Given the description of an element on the screen output the (x, y) to click on. 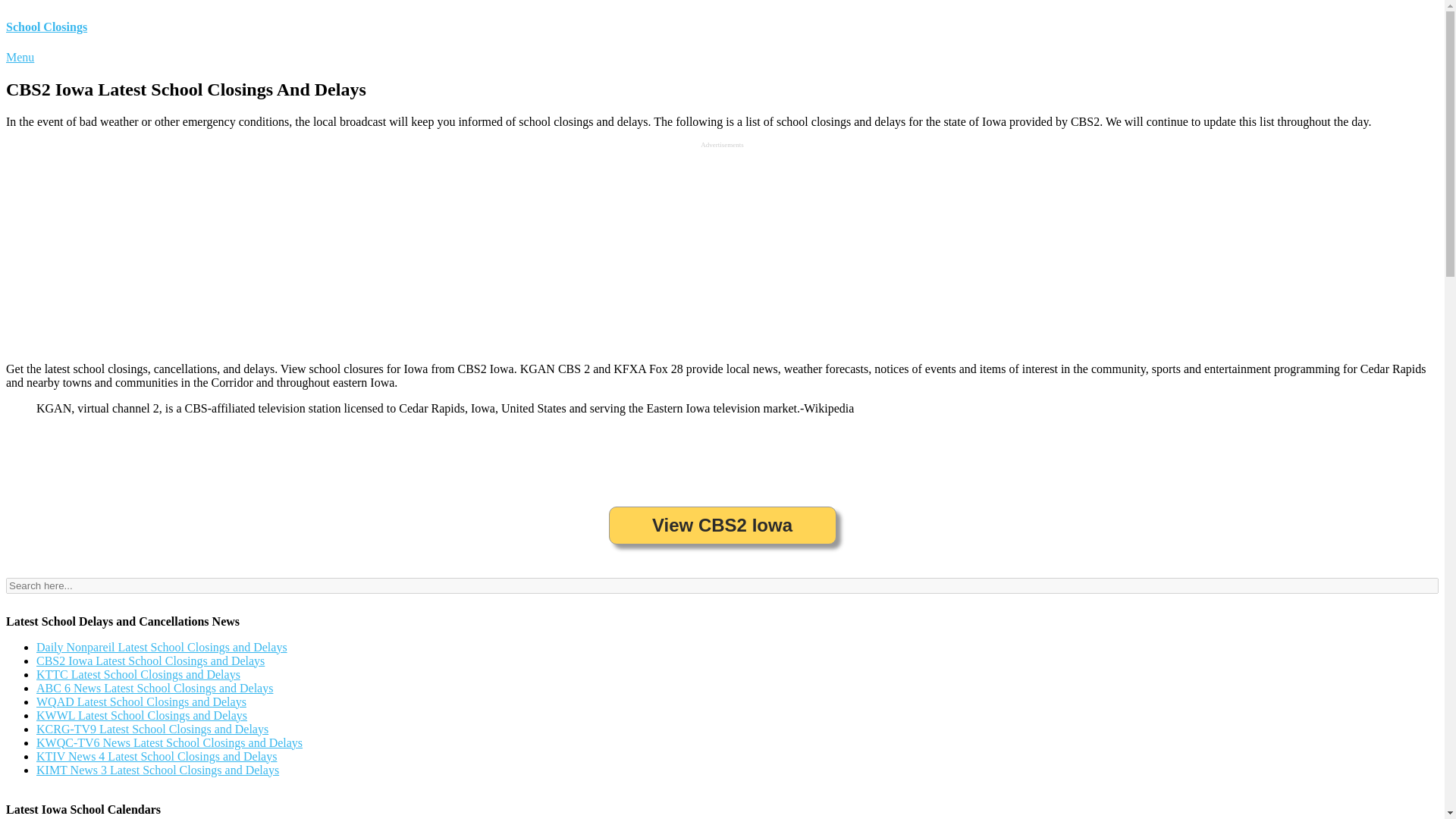
School Closings (46, 26)
KTTC Latest School Closings and Delays (138, 674)
WQAD Latest School Closings and Delays (141, 701)
Menu (19, 56)
Daily Nonpareil Latest School Closings and Delays (161, 646)
ABC 6 News Latest School Closings and Delays (154, 687)
KWWL Latest School Closings and Delays (141, 715)
KCRG-TV9 Latest School Closings and Delays (151, 728)
KTIV News 4 Latest School Closings and Delays (156, 756)
CBS2 Iowa Latest School Closings and Delays (150, 660)
